Given the description of an element on the screen output the (x, y) to click on. 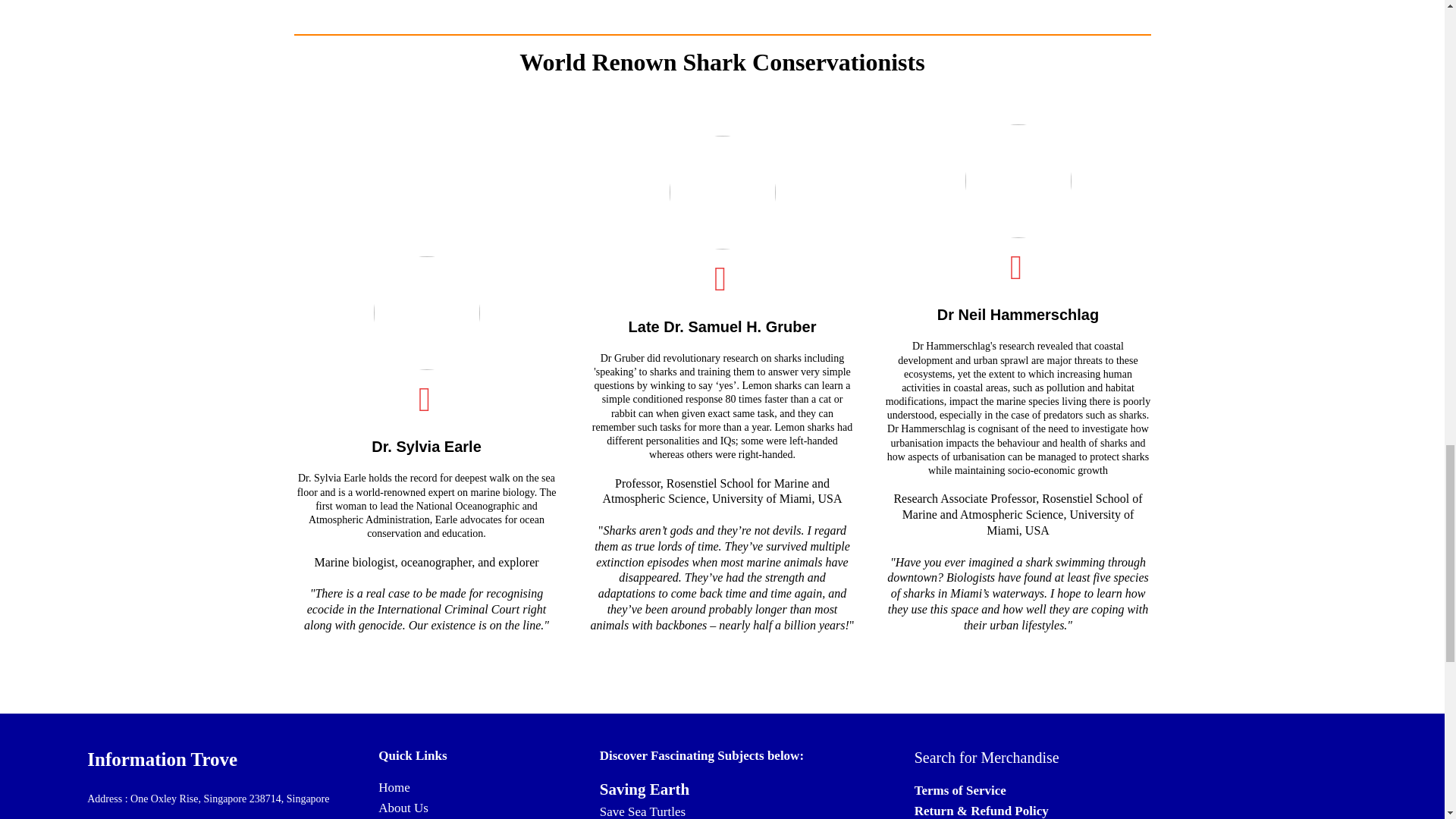
Home (394, 787)
Terms of Service (960, 789)
Save Sea Turtle (640, 811)
About Us (403, 807)
Saving Earth (643, 789)
